Given the description of an element on the screen output the (x, y) to click on. 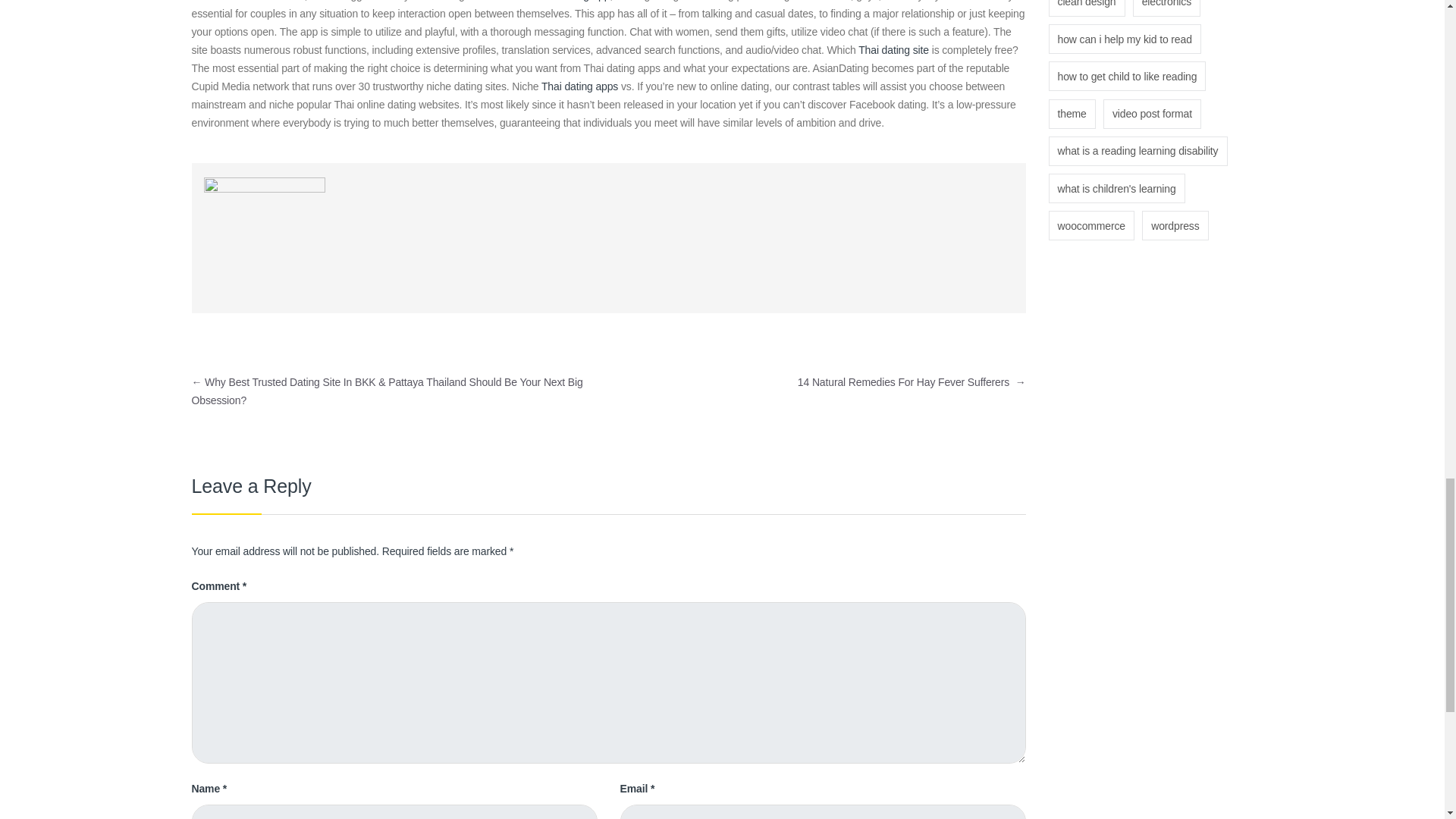
Thai dating apps (579, 86)
Thai dating site (893, 50)
Thailand Dating App (563, 0)
